Given the description of an element on the screen output the (x, y) to click on. 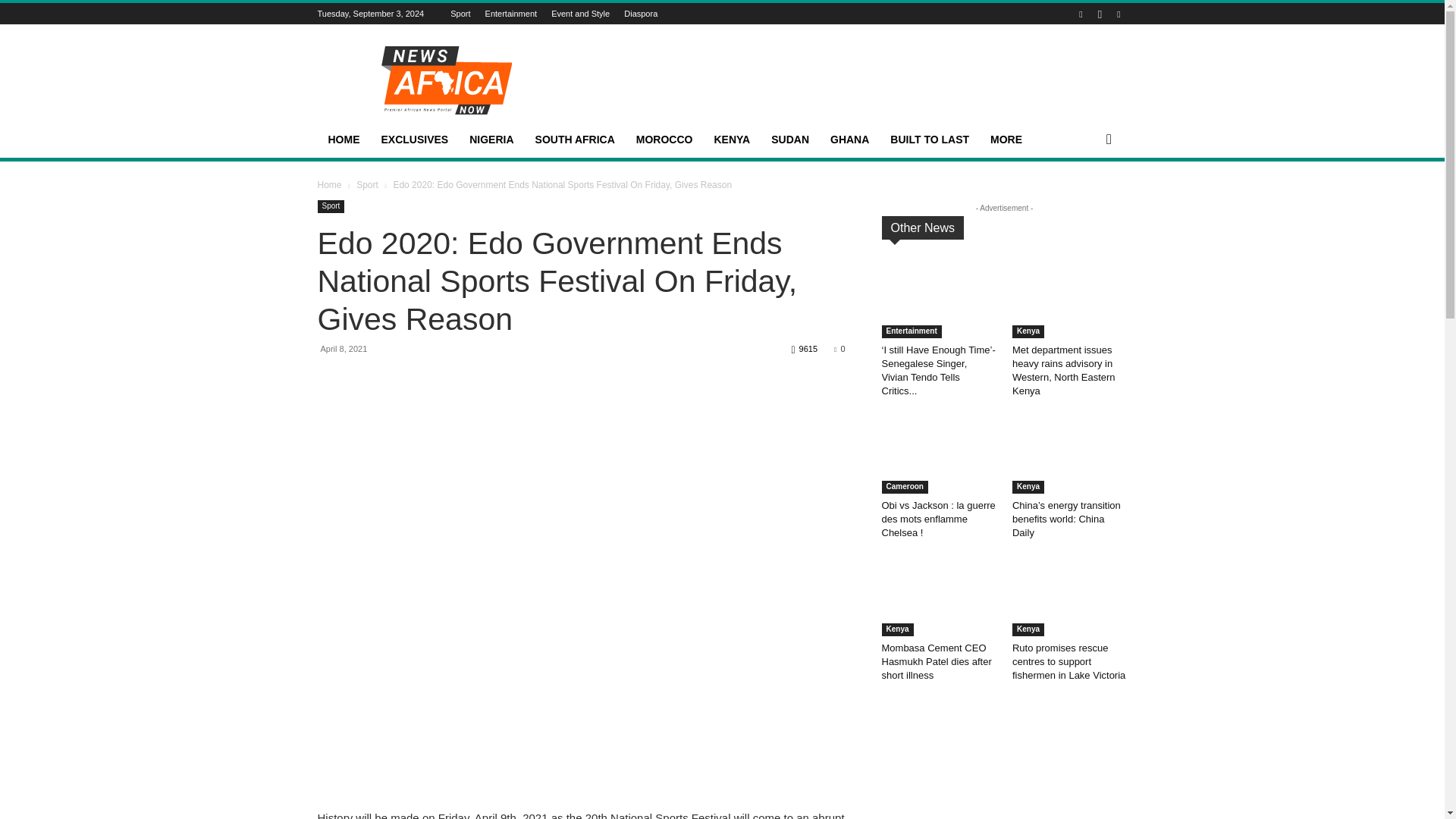
Diaspora (641, 13)
View all posts in Sport (367, 184)
EXCLUSIVES (413, 139)
Event and Style (580, 13)
MOROCCO (664, 139)
NIGERIA (491, 139)
Sport (459, 13)
SOUTH AFRICA (575, 139)
Entertainment (510, 13)
HOME (343, 139)
